Given the description of an element on the screen output the (x, y) to click on. 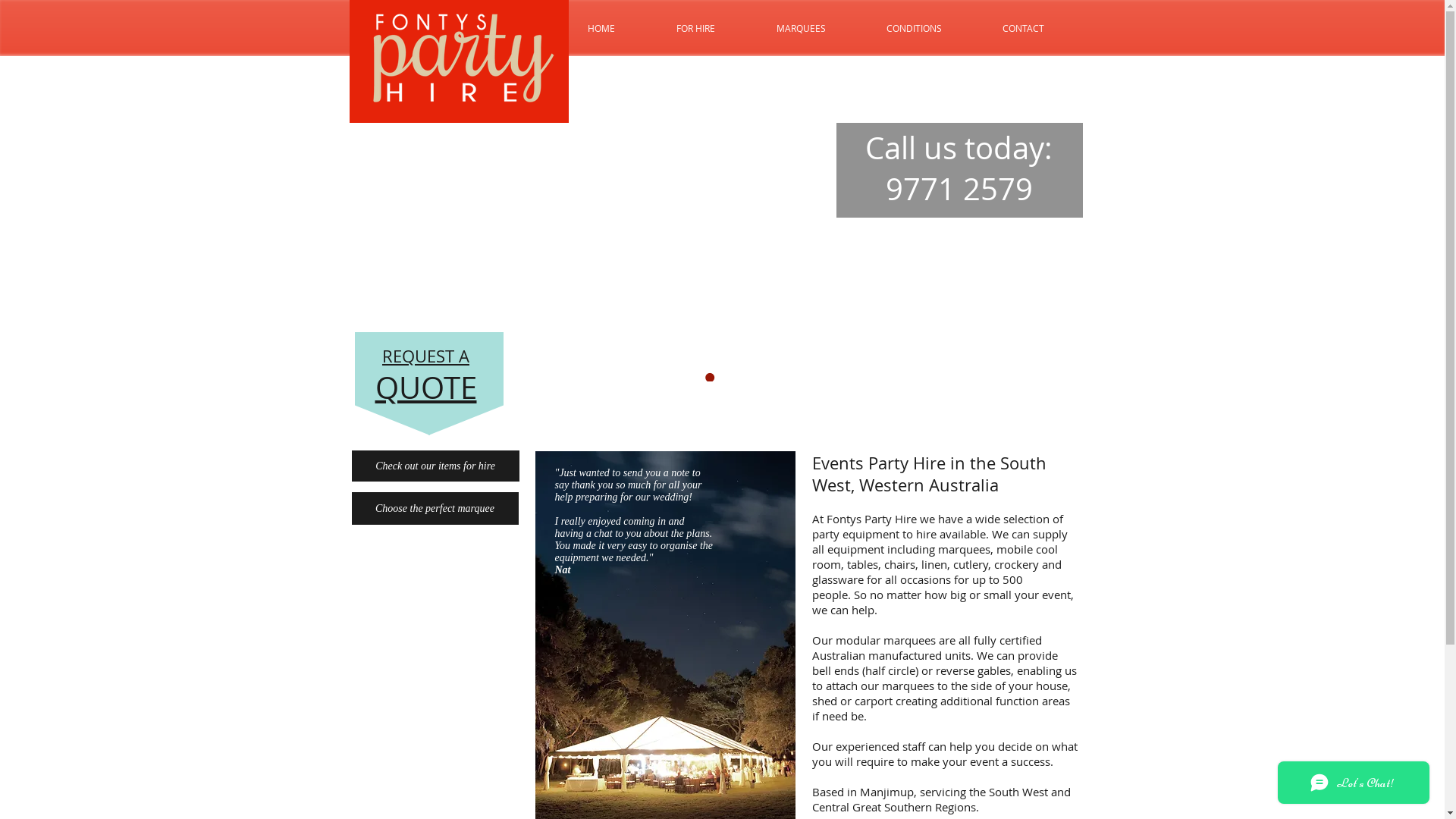
Choose the perfect marquee Element type: text (434, 508)
FOR HIRE Element type: text (696, 27)
QUOTE Element type: text (425, 387)
Check out our items for hire Element type: text (435, 465)
REQUEST A Element type: text (425, 356)
MARQUEES Element type: text (801, 27)
CONTACT Element type: text (1023, 27)
FontysPartyHire_logo_NEW-01.png Element type: hover (467, 61)
HOME Element type: text (600, 27)
CONDITIONS Element type: text (913, 27)
